Given the description of an element on the screen output the (x, y) to click on. 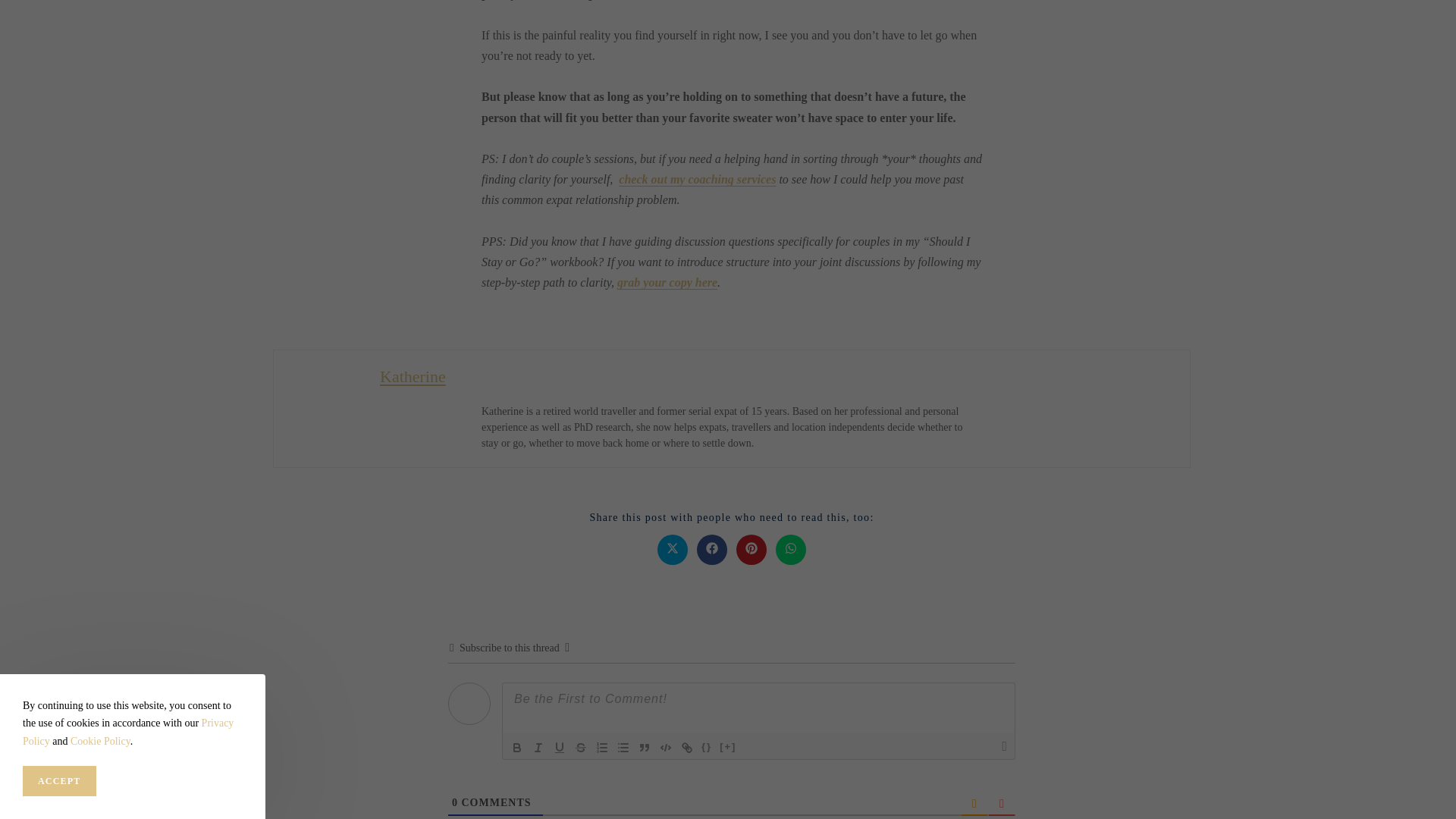
ordered (601, 747)
bullet (622, 747)
